Given the description of an element on the screen output the (x, y) to click on. 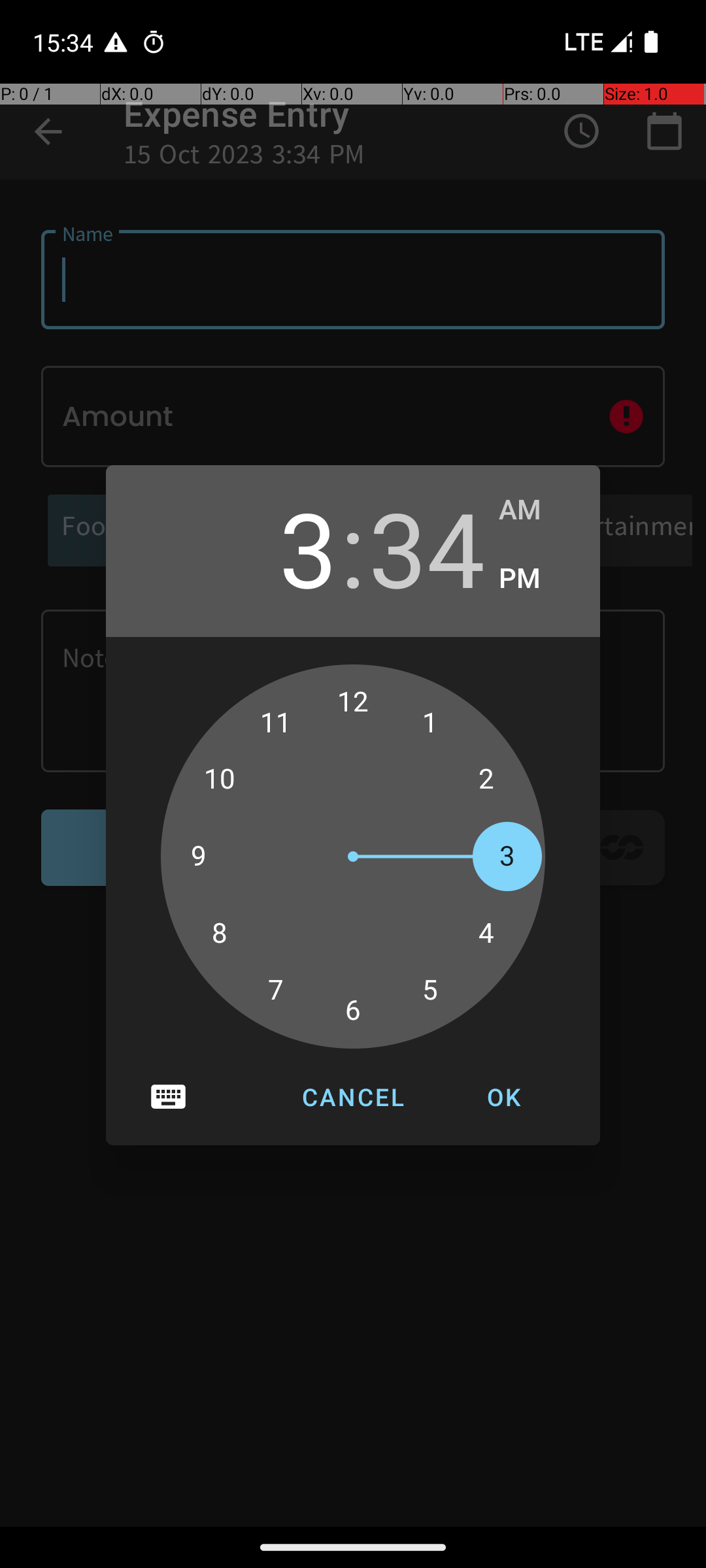
34 Element type: android.widget.TextView (426, 547)
AM Element type: android.widget.RadioButton (535, 510)
PM Element type: android.widget.RadioButton (535, 578)
